Given the description of an element on the screen output the (x, y) to click on. 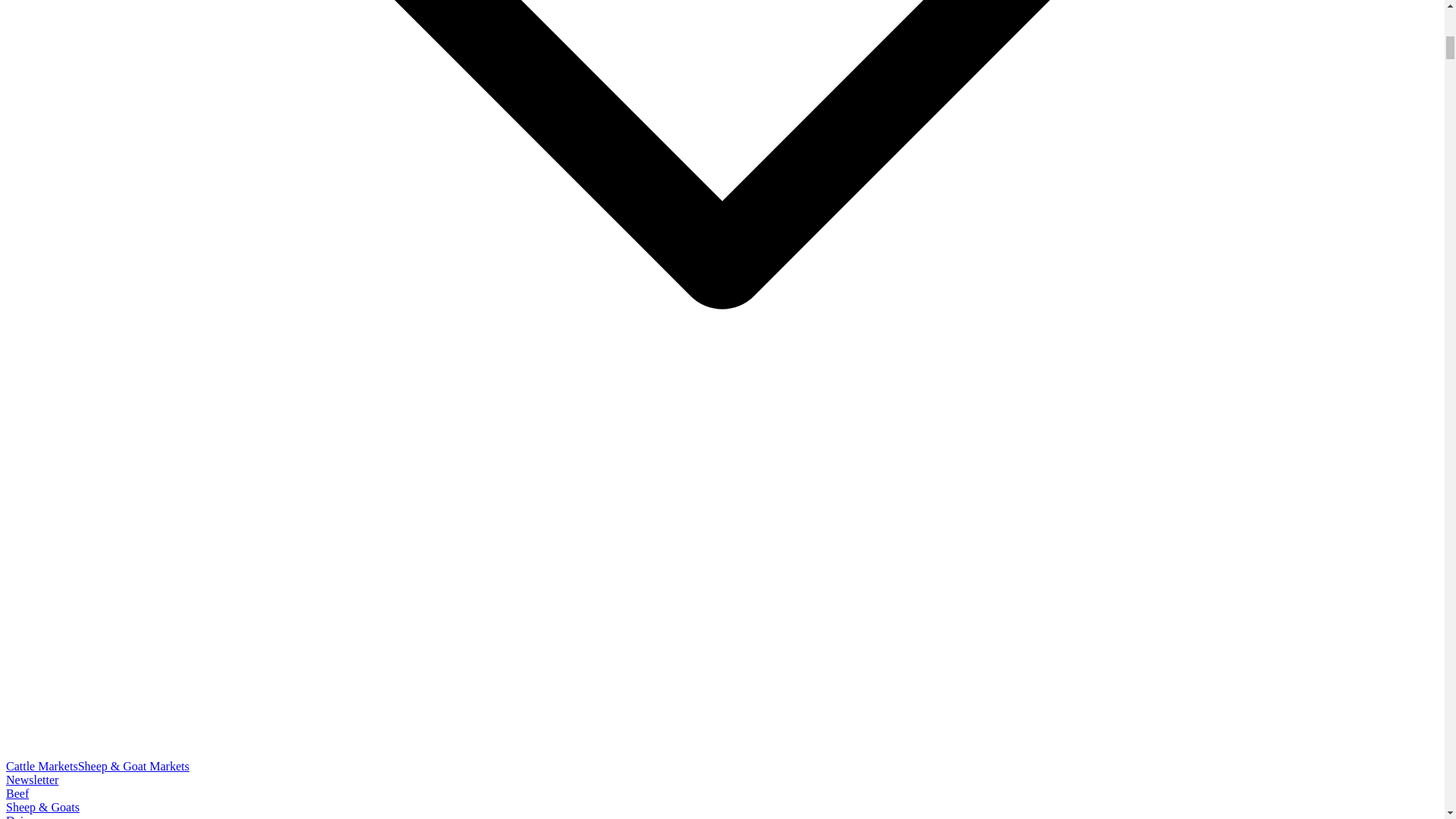
Newsletter (31, 779)
Dairy (19, 816)
Cattle Markets (41, 766)
Beef (17, 793)
